Given the description of an element on the screen output the (x, y) to click on. 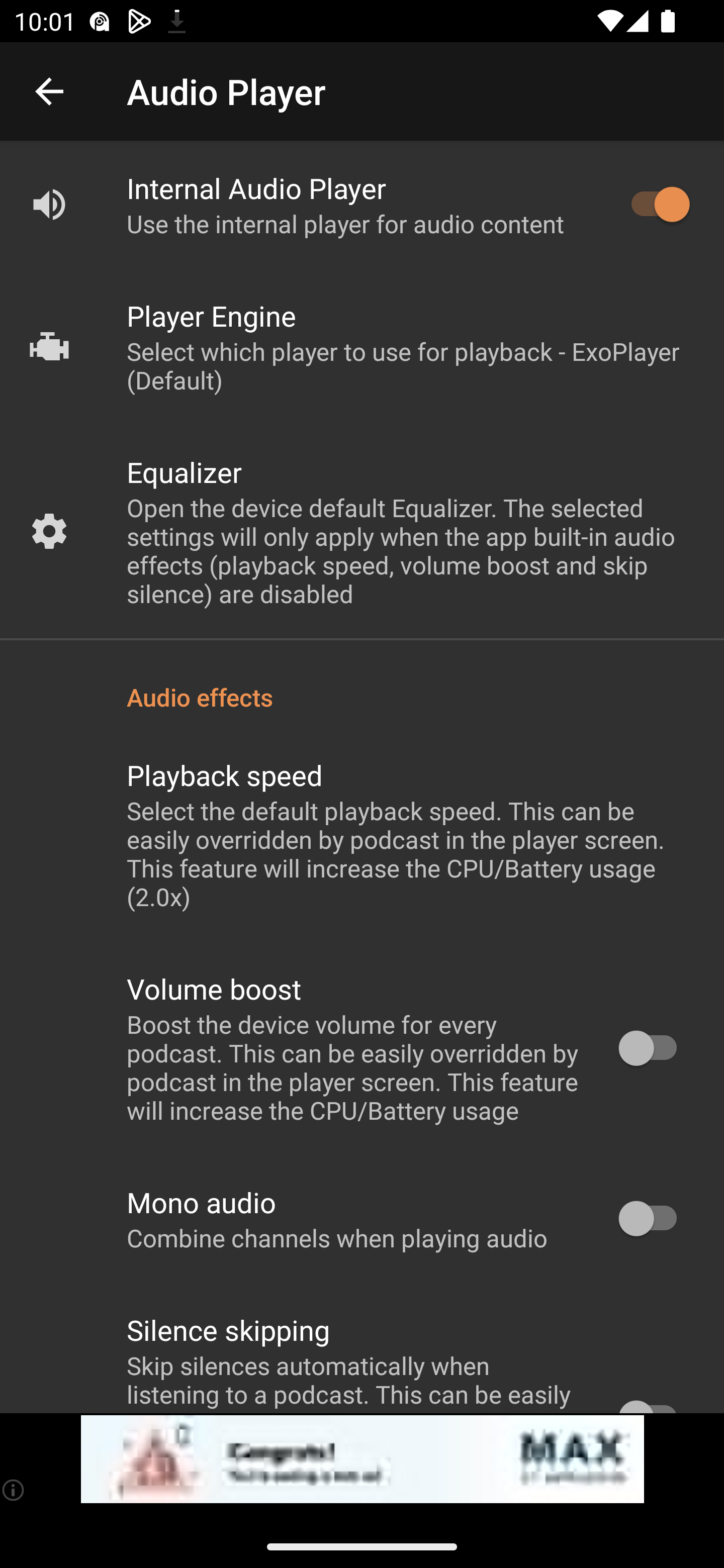
Navigate up (49, 91)
Mono audio Combine channels when playing audio (362, 1218)
app-monetization (362, 1459)
(i) (14, 1489)
